Given the description of an element on the screen output the (x, y) to click on. 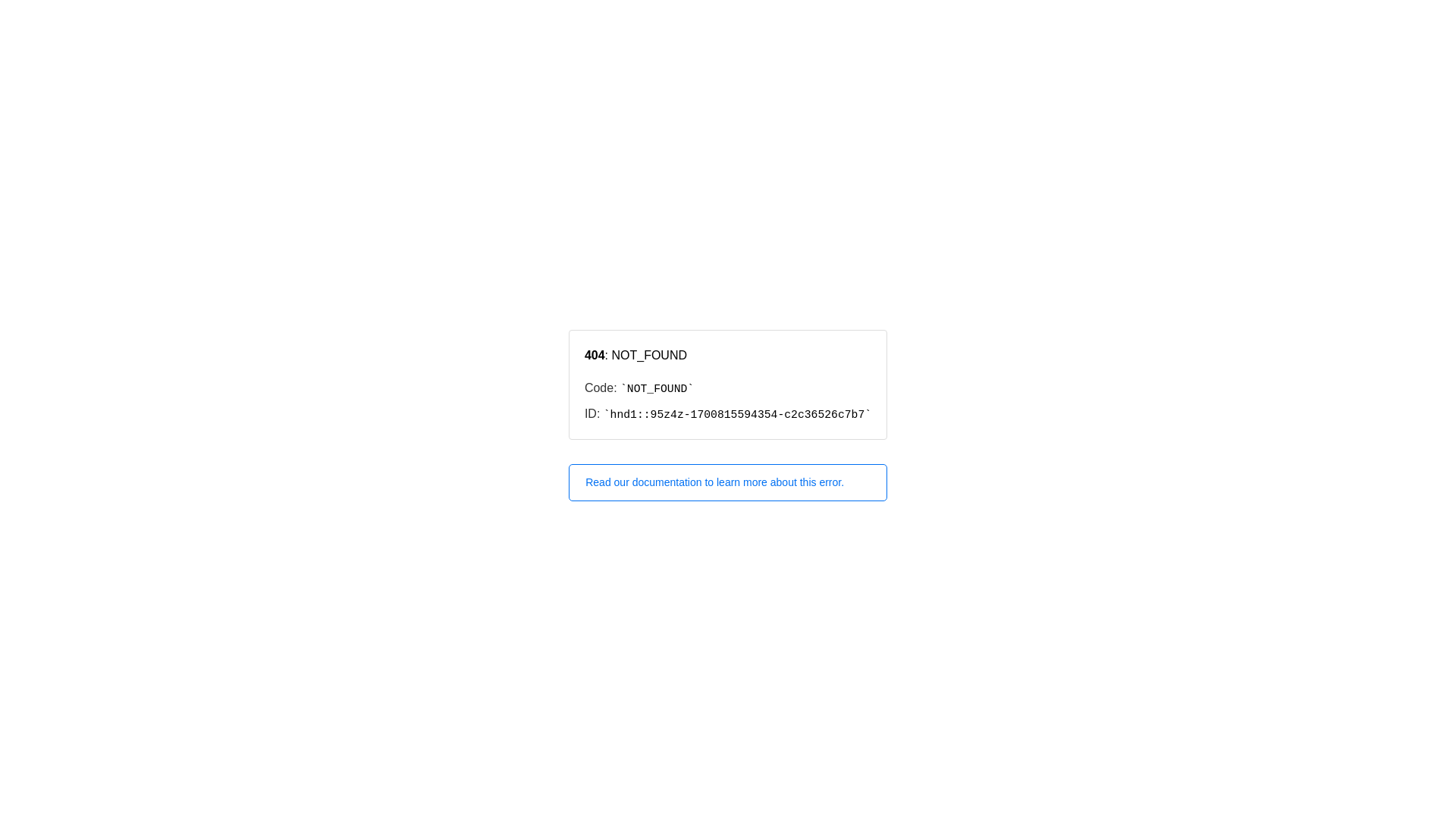
Read our documentation to learn more about this error. Element type: text (727, 482)
